Given the description of an element on the screen output the (x, y) to click on. 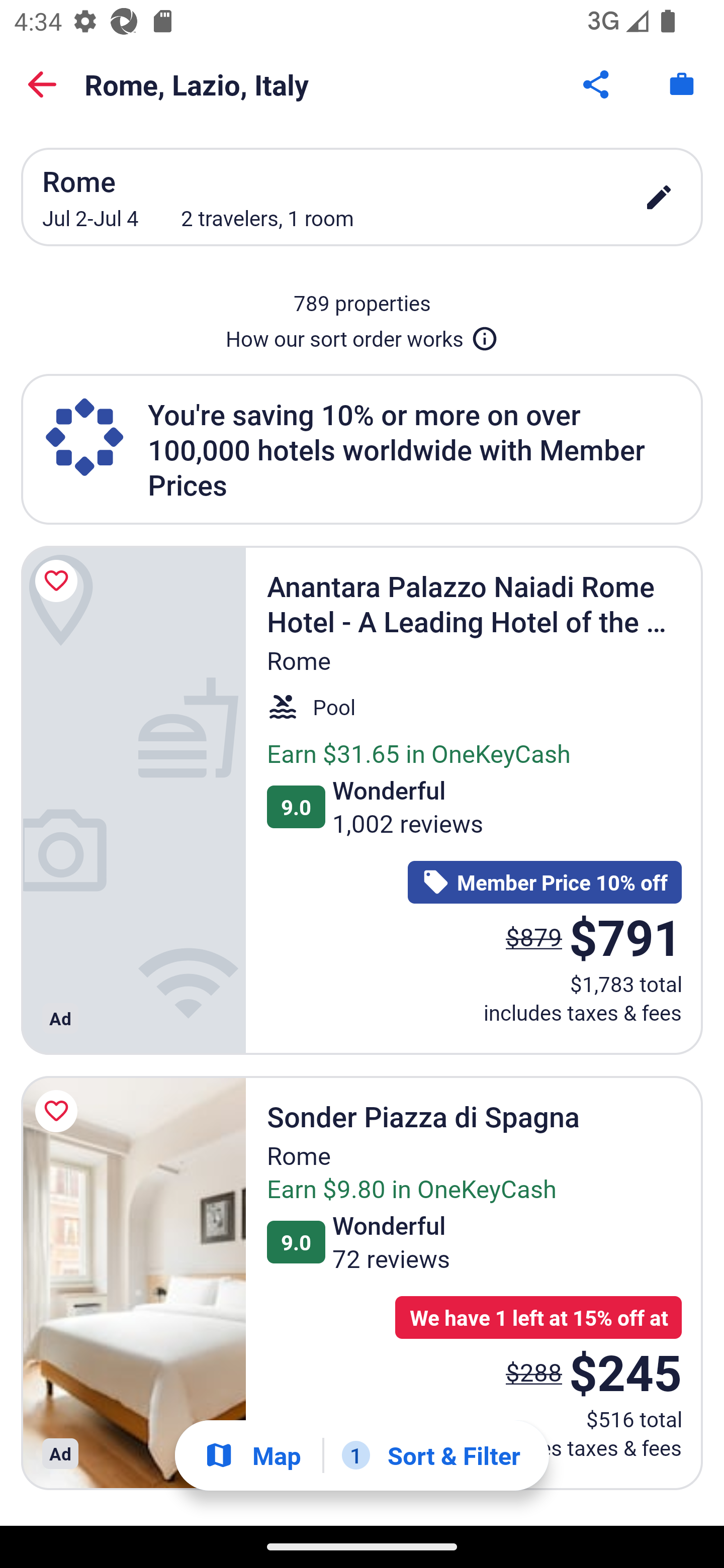
Back (42, 84)
Share Button (597, 84)
Trips. Button (681, 84)
Rome Jul 2-Jul 4 2 travelers, 1 room edit (361, 196)
How our sort order works (361, 334)
$879 The price was $879 (533, 936)
Save Sonder Piazza di Spagna to a trip (59, 1111)
Sonder Piazza di Spagna (133, 1282)
$288 The price was $288 (533, 1371)
1 Sort & Filter 1 Filter applied. Filters Button (430, 1455)
Show map Map Show map Button (252, 1455)
